Given the description of an element on the screen output the (x, y) to click on. 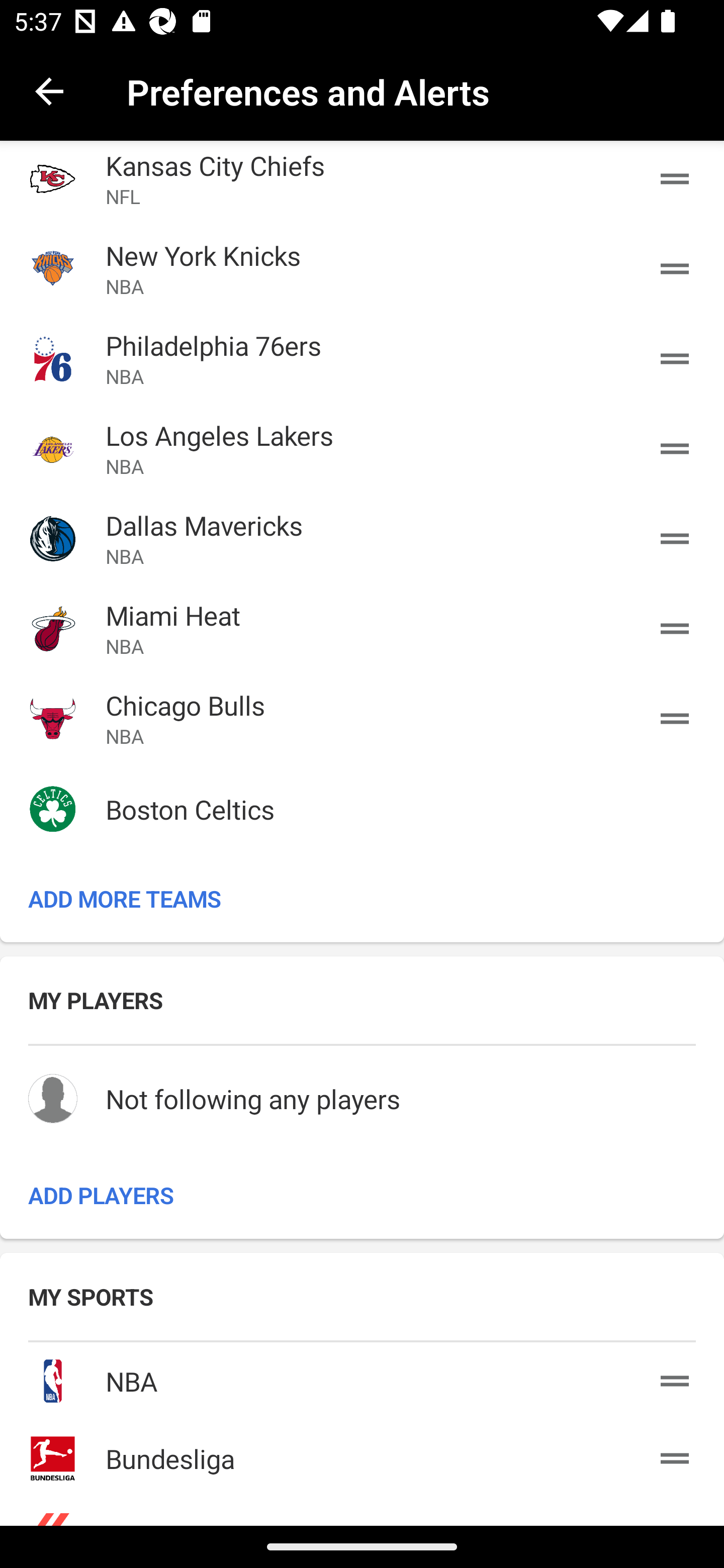
back.button (49, 90)
Miami Heat Miami Heat Miami Heat NBA NBA (362, 627)
Chicago Bulls Chicago Bulls Chicago Bulls NBA NBA (362, 717)
Boston Celtics Boston Celtics Boston Celtics (362, 808)
ADD MORE TEAMS (362, 898)
ADD PLAYERS (362, 1194)
NBA NBA NBA (362, 1377)
Bundesliga Bundesliga Bundesliga (362, 1454)
